Given the description of an element on the screen output the (x, y) to click on. 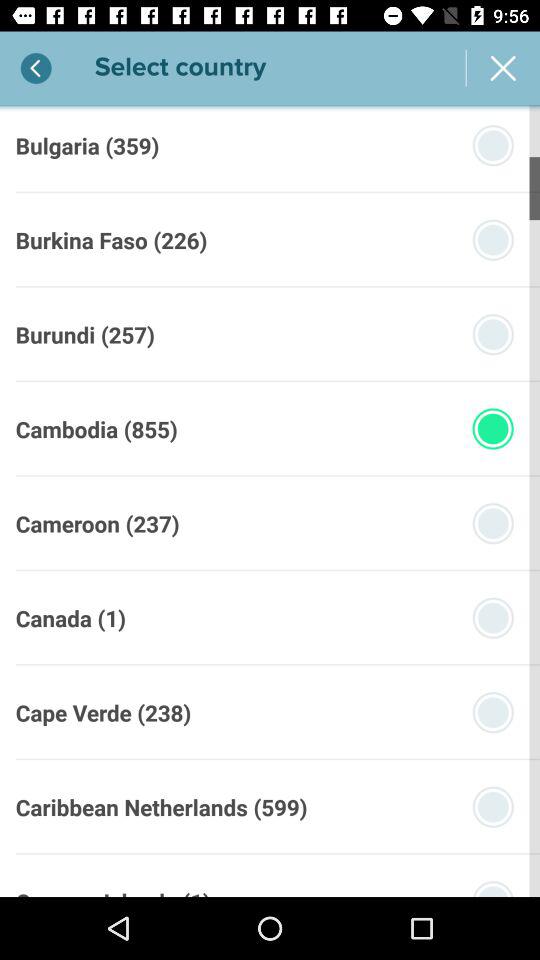
open bulgaria (359) icon (87, 145)
